Given the description of an element on the screen output the (x, y) to click on. 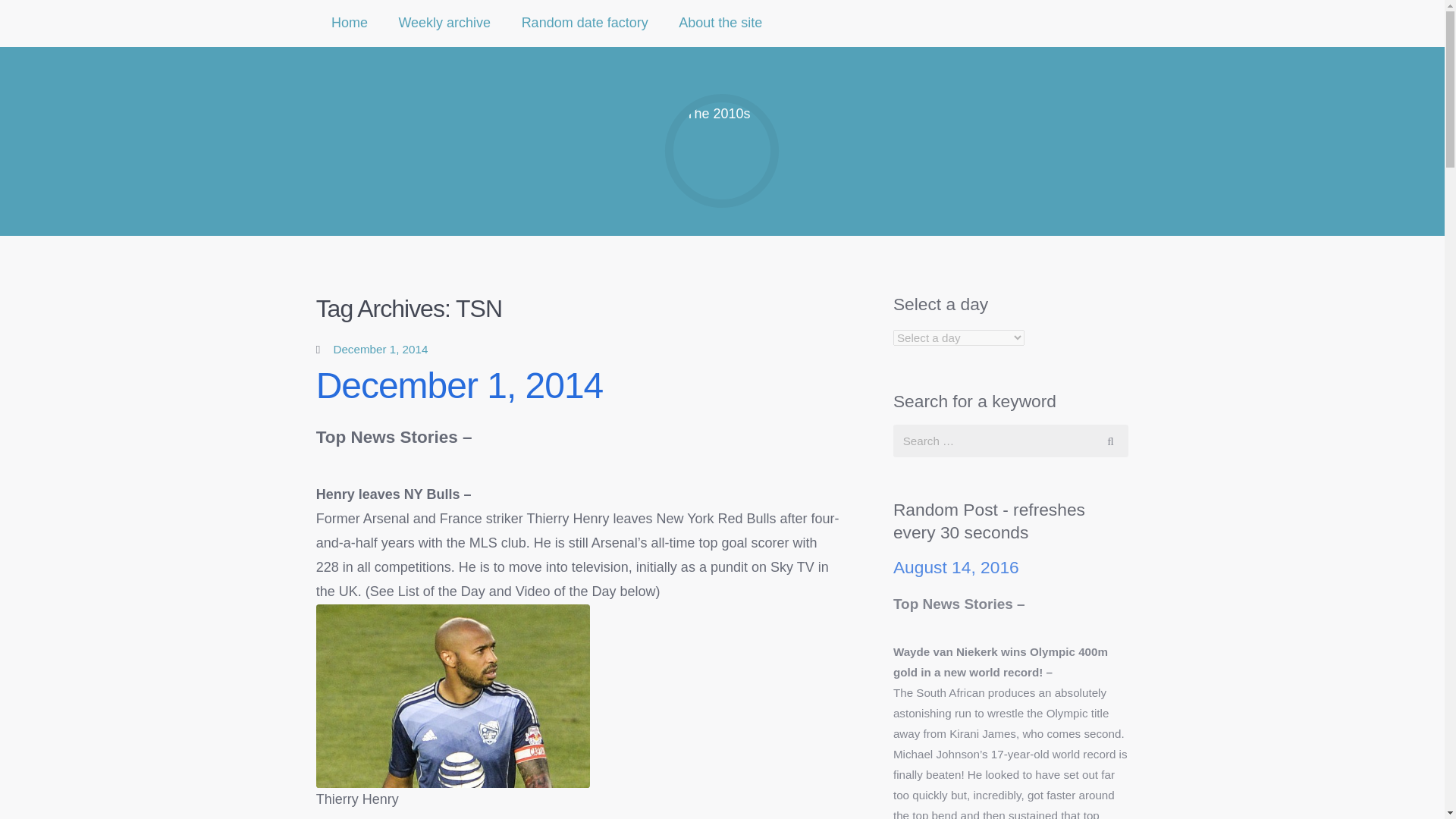
Home (349, 23)
About the site (720, 23)
Search (1110, 441)
The 2010s (722, 150)
Weekly archive (443, 23)
Random date factory (584, 23)
Permalink to December 1, 2014 (380, 349)
Permalink to December 1, 2014 (459, 385)
December 1, 2014 (380, 349)
December 1, 2014 (459, 385)
